Given the description of an element on the screen output the (x, y) to click on. 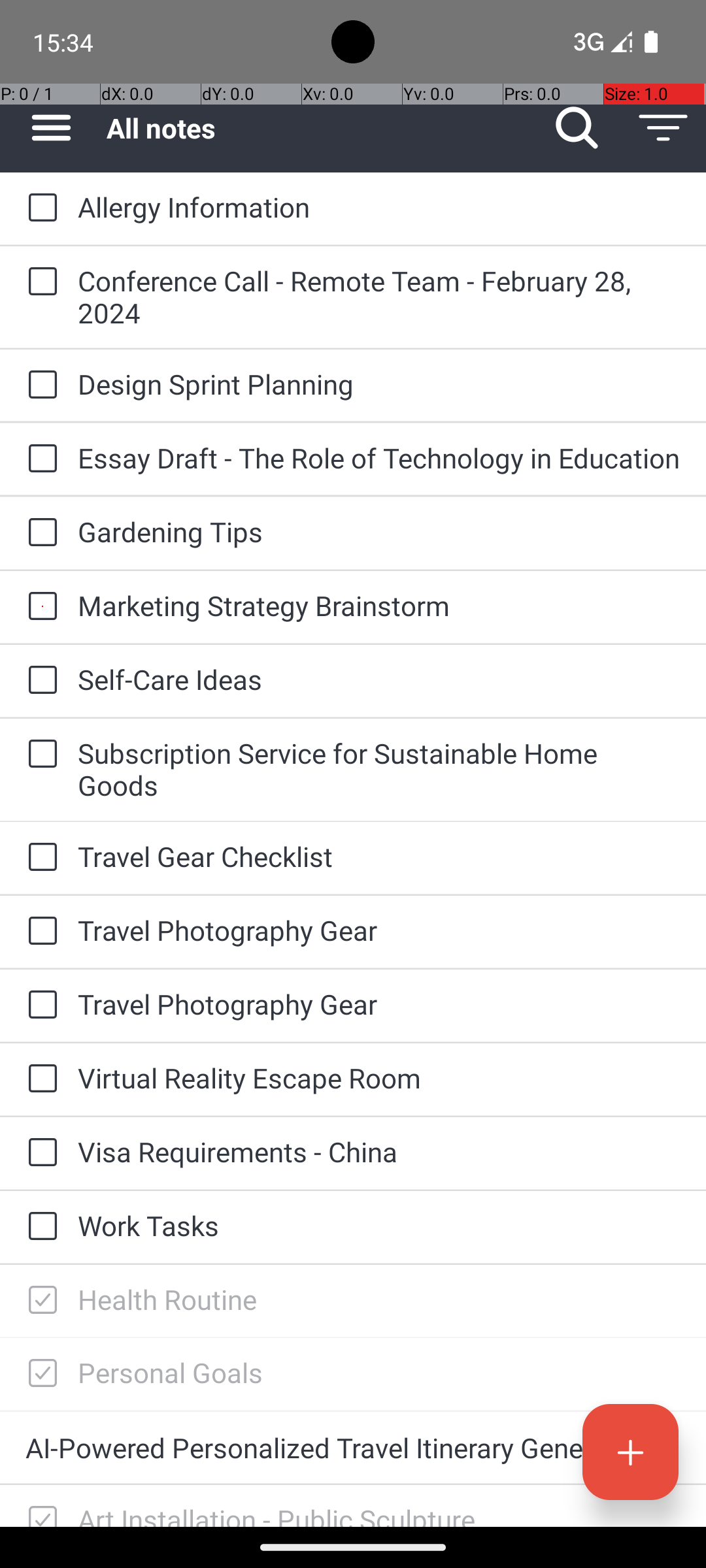
to-do: Conference Call - Remote Team - February 28, 2024 Element type: android.widget.CheckBox (38, 282)
Conference Call - Remote Team - February 28, 2024 Element type: android.widget.TextView (378, 296)
to-do: Subscription Service for Sustainable Home Goods Element type: android.widget.CheckBox (38, 754)
Subscription Service for Sustainable Home Goods Element type: android.widget.TextView (378, 768)
to-do: Travel Gear Checklist Element type: android.widget.CheckBox (38, 857)
Travel Gear Checklist Element type: android.widget.TextView (378, 855)
to-do: Visa Requirements - China Element type: android.widget.CheckBox (38, 1153)
Visa Requirements - China Element type: android.widget.TextView (378, 1151)
to-do: Work Tasks Element type: android.widget.CheckBox (38, 1227)
Work Tasks Element type: android.widget.TextView (378, 1224)
to-do: Personal Goals Element type: android.widget.CheckBox (38, 1373)
Personal Goals Element type: android.widget.TextView (378, 1371)
AI-Powered Personalized Travel Itinerary Generator Element type: android.widget.TextView (352, 1447)
to-do: Art Installation - Public Sculpture Element type: android.widget.CheckBox (38, 1505)
